Given the description of an element on the screen output the (x, y) to click on. 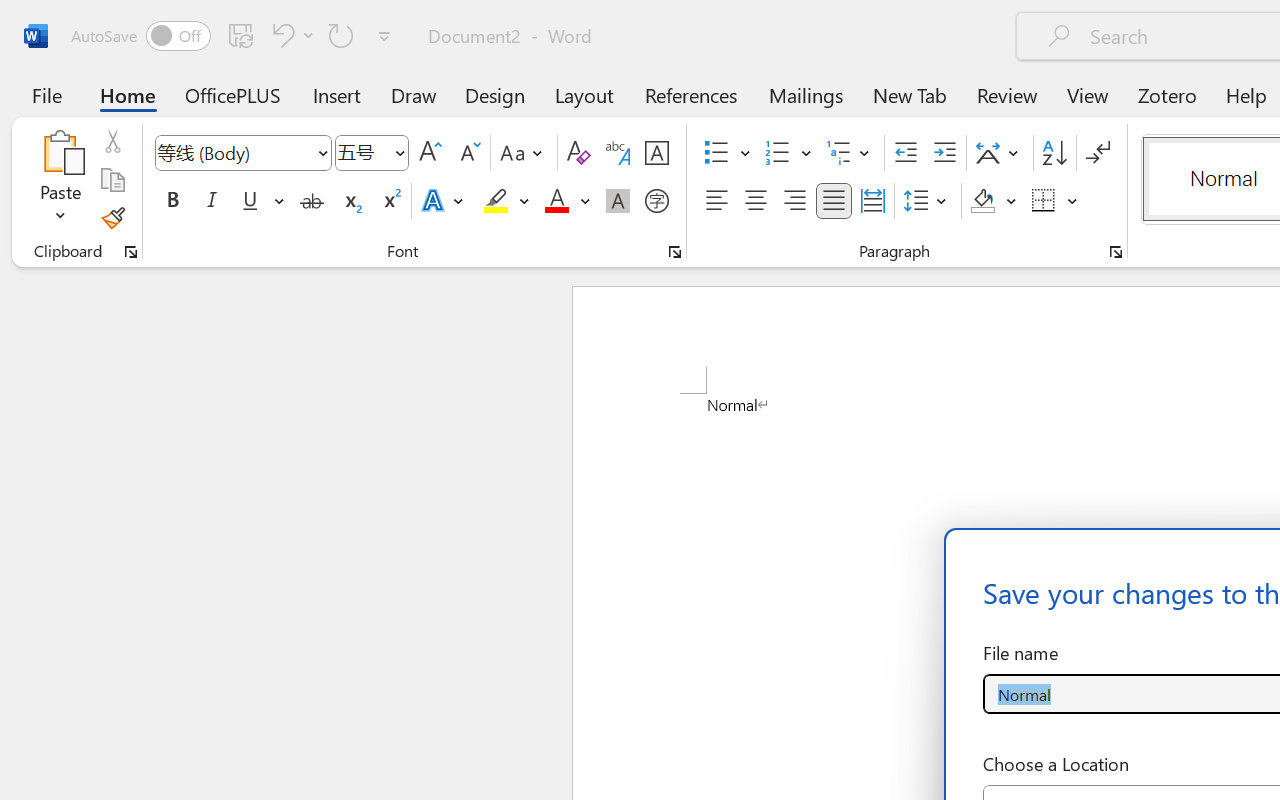
Bullets (716, 153)
Font... (675, 252)
Font (242, 153)
Home (127, 94)
Font (234, 152)
Customize Quick Access Toolbar (384, 35)
Office Clipboard... (131, 252)
Phonetic Guide... (618, 153)
Clear Formatting (578, 153)
Underline (250, 201)
Shading (993, 201)
Enclose Characters... (656, 201)
Undo Apply Quick Style (290, 35)
Underline (261, 201)
Design (495, 94)
